Given the description of an element on the screen output the (x, y) to click on. 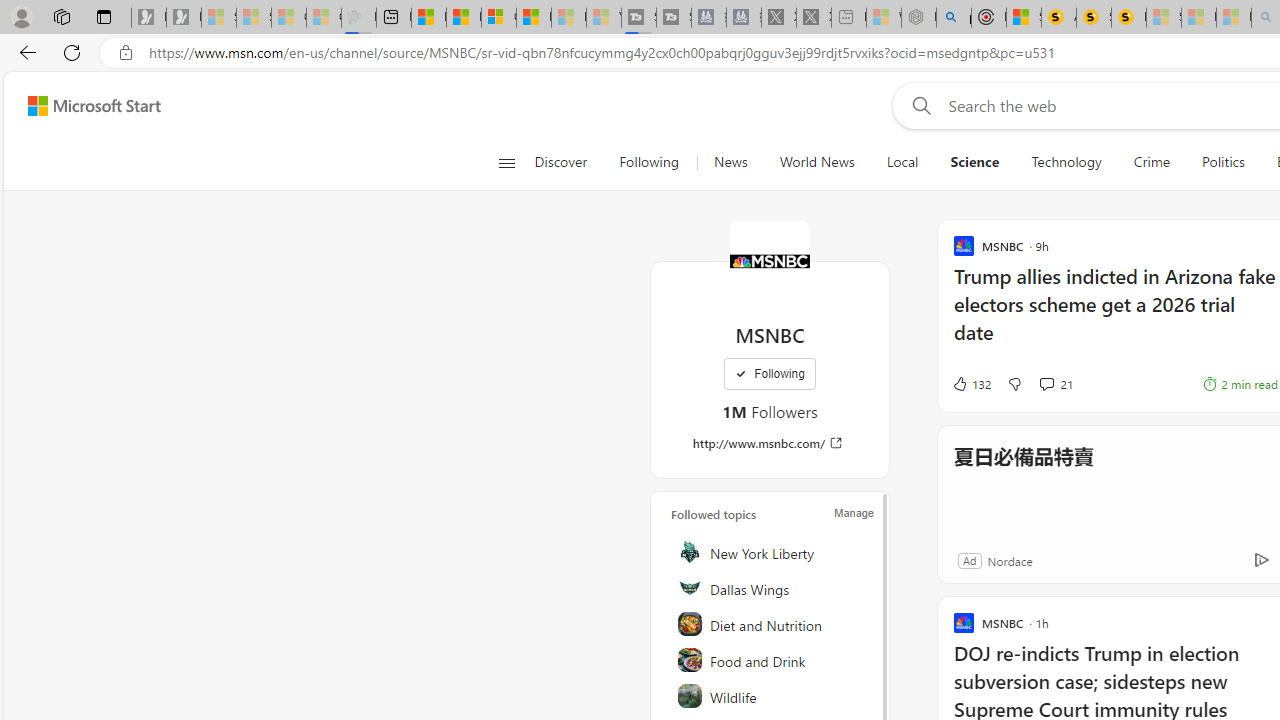
View comments 21 Comment (1046, 383)
Technology (1066, 162)
World News (816, 162)
Local (902, 162)
Science (974, 162)
